Given the description of an element on the screen output the (x, y) to click on. 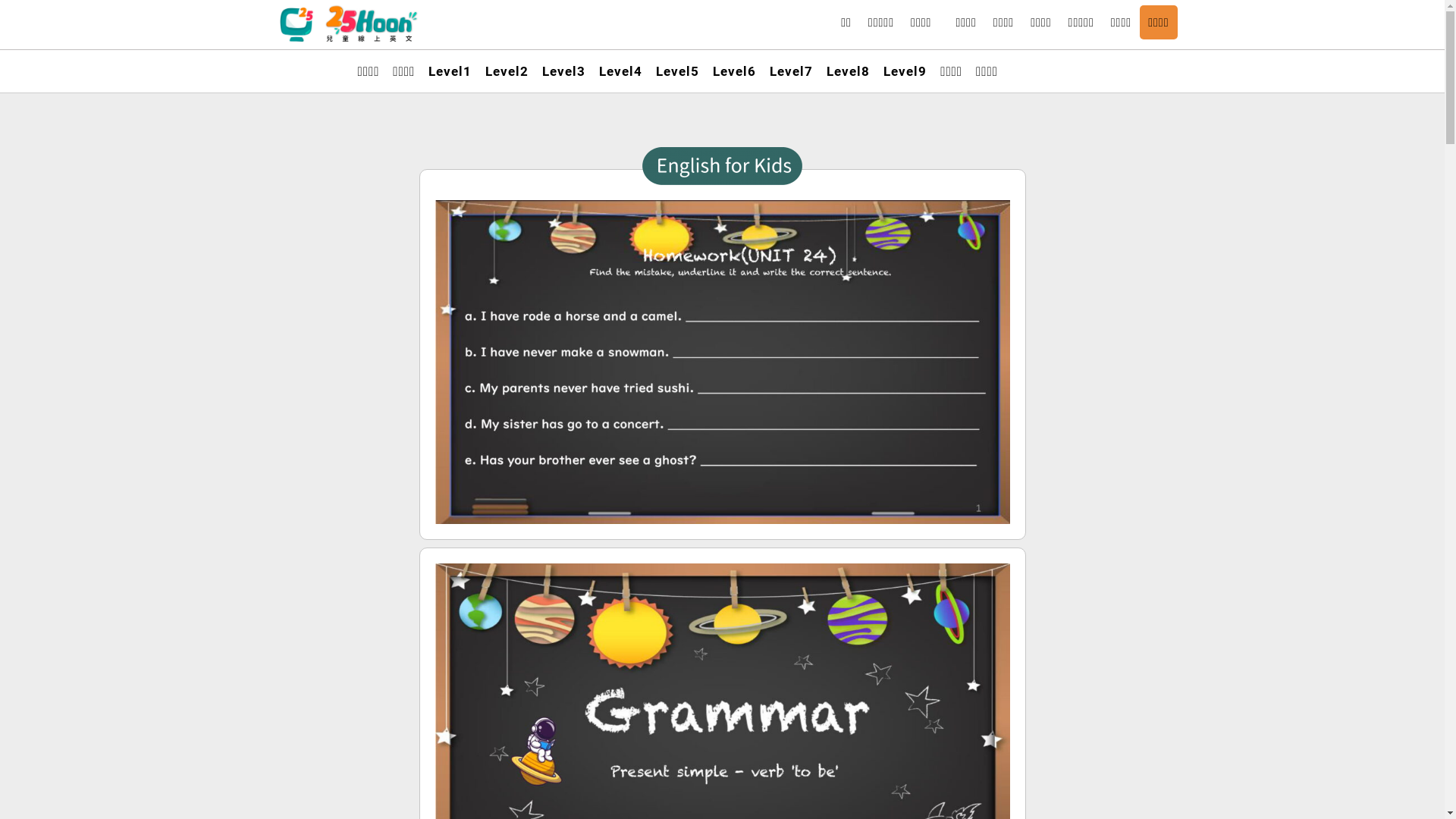
Level2 Element type: text (506, 71)
Level3 Element type: text (563, 71)
Level4 Element type: text (620, 71)
Level7 Element type: text (790, 71)
English for kids Element type: hover (722, 166)
Level8 Element type: text (847, 71)
Level5 Element type: text (677, 71)
Level6 Element type: text (734, 71)
Level9 Element type: text (904, 71)
Level1 Element type: text (449, 71)
